Given the description of an element on the screen output the (x, y) to click on. 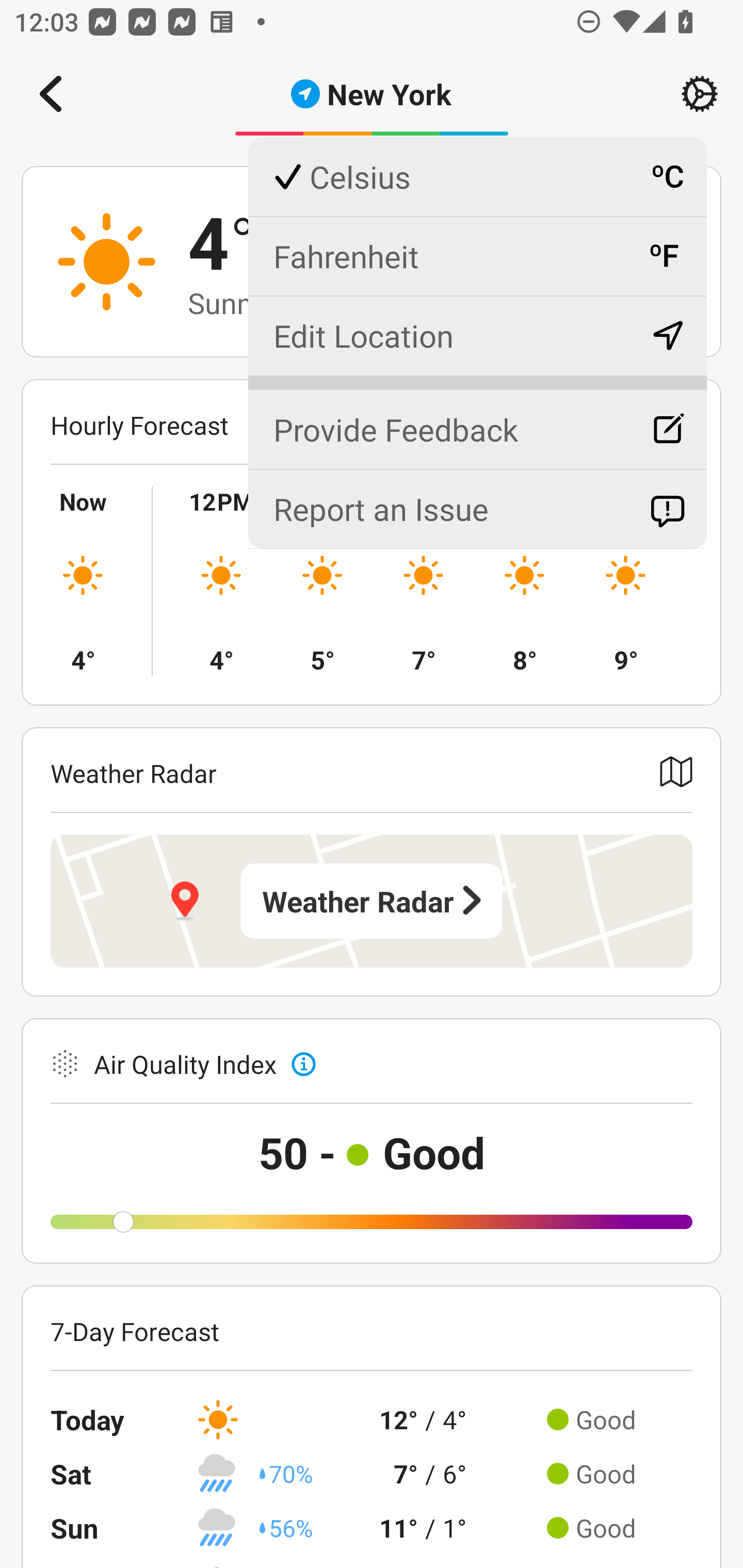
Celsius (477, 176)
Fahrenheit (477, 256)
Edit Location (477, 335)
Provide Feedback (477, 421)
Report an Issue (477, 508)
